Given the description of an element on the screen output the (x, y) to click on. 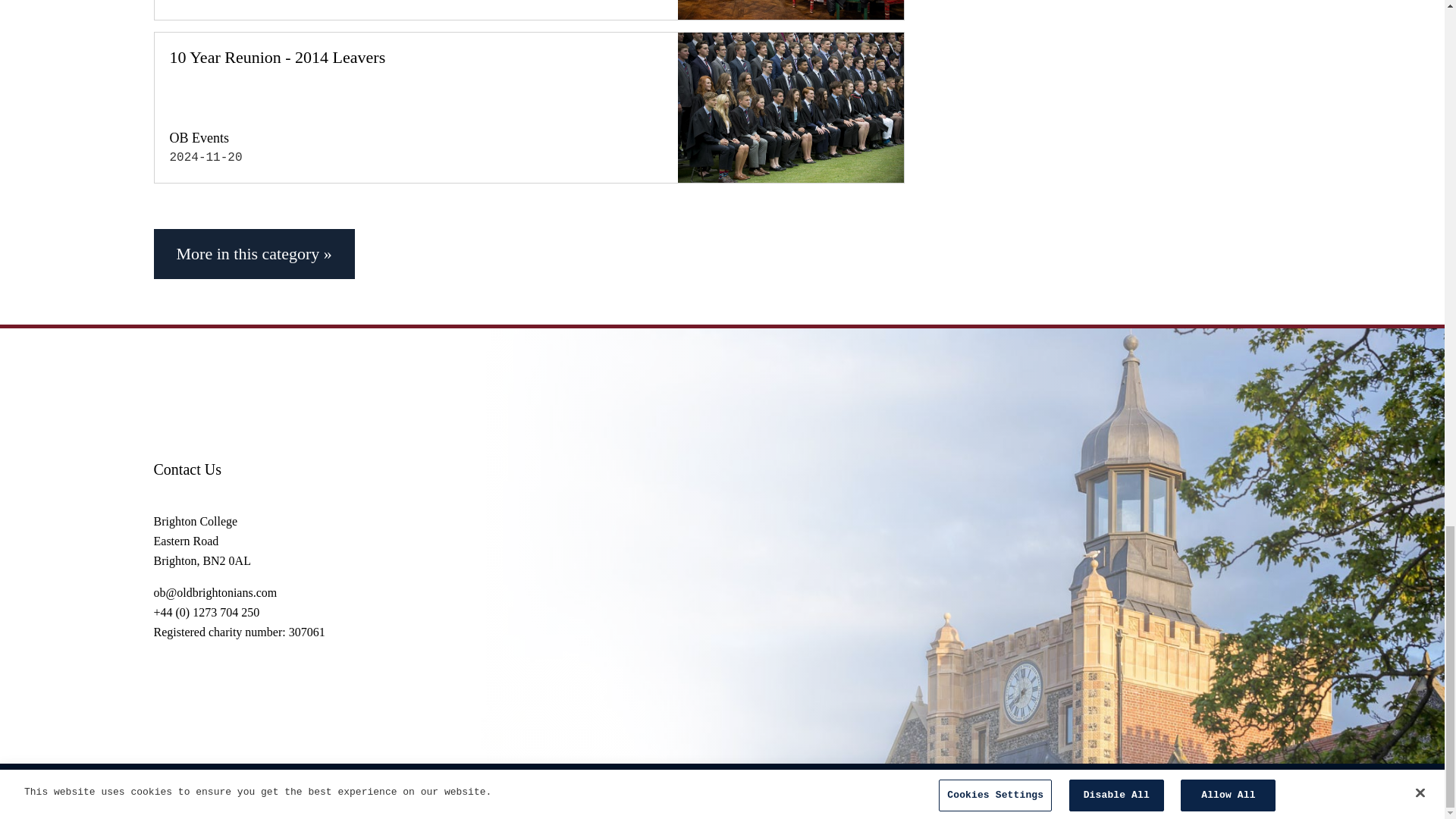
Follow Old Brightonians on Instagram (1165, 787)
Follow Old Brightonians on Twitter  (1239, 787)
Brighton College Connect (1202, 787)
Join Old Brightonians on Facebook (1277, 787)
